Given the description of an element on the screen output the (x, y) to click on. 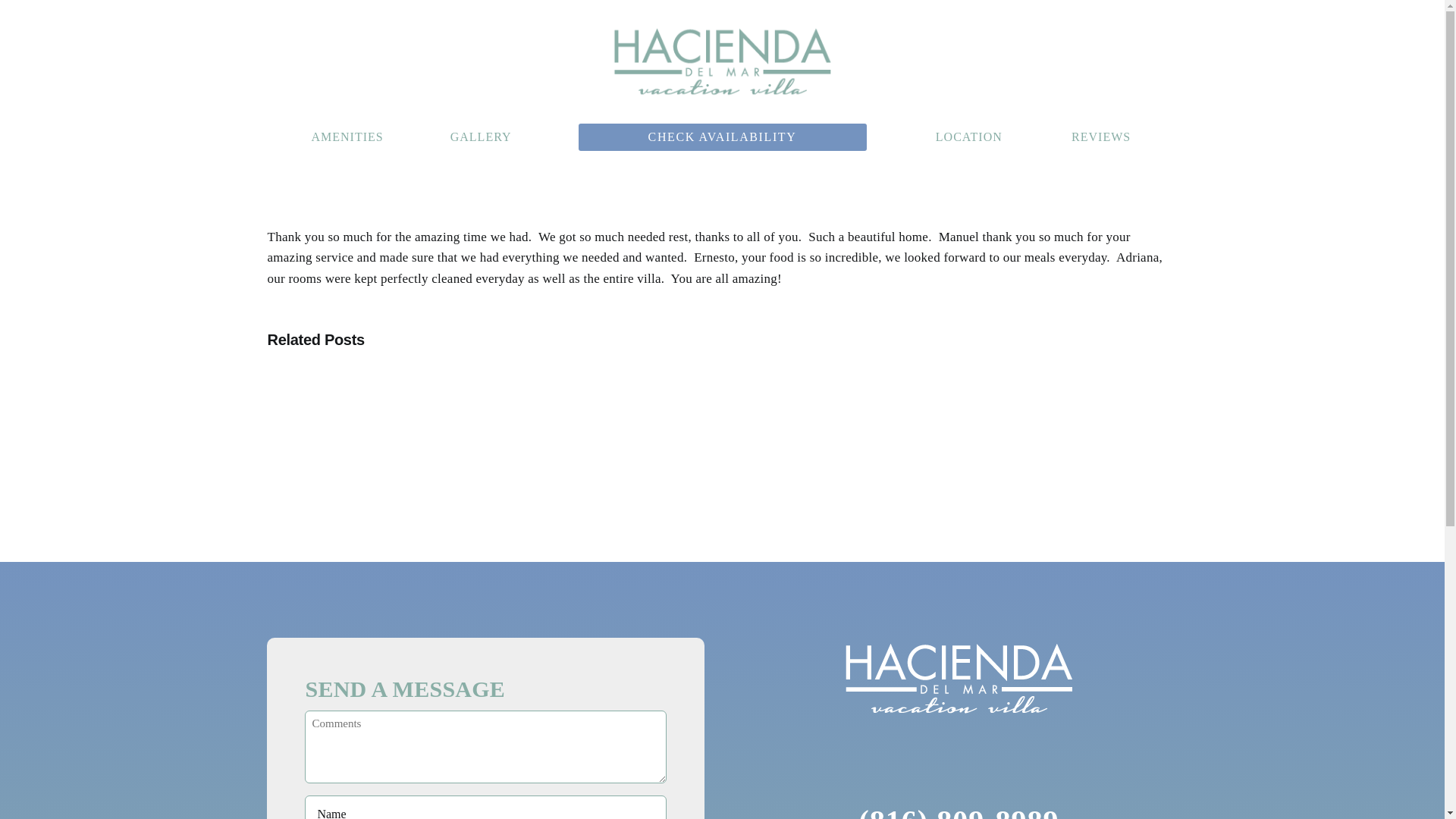
REVIEWS (1101, 137)
CHECK AVAILABILITY (722, 136)
AMENITIES (346, 137)
LOCATION (969, 137)
GALLERY (480, 137)
